Given the description of an element on the screen output the (x, y) to click on. 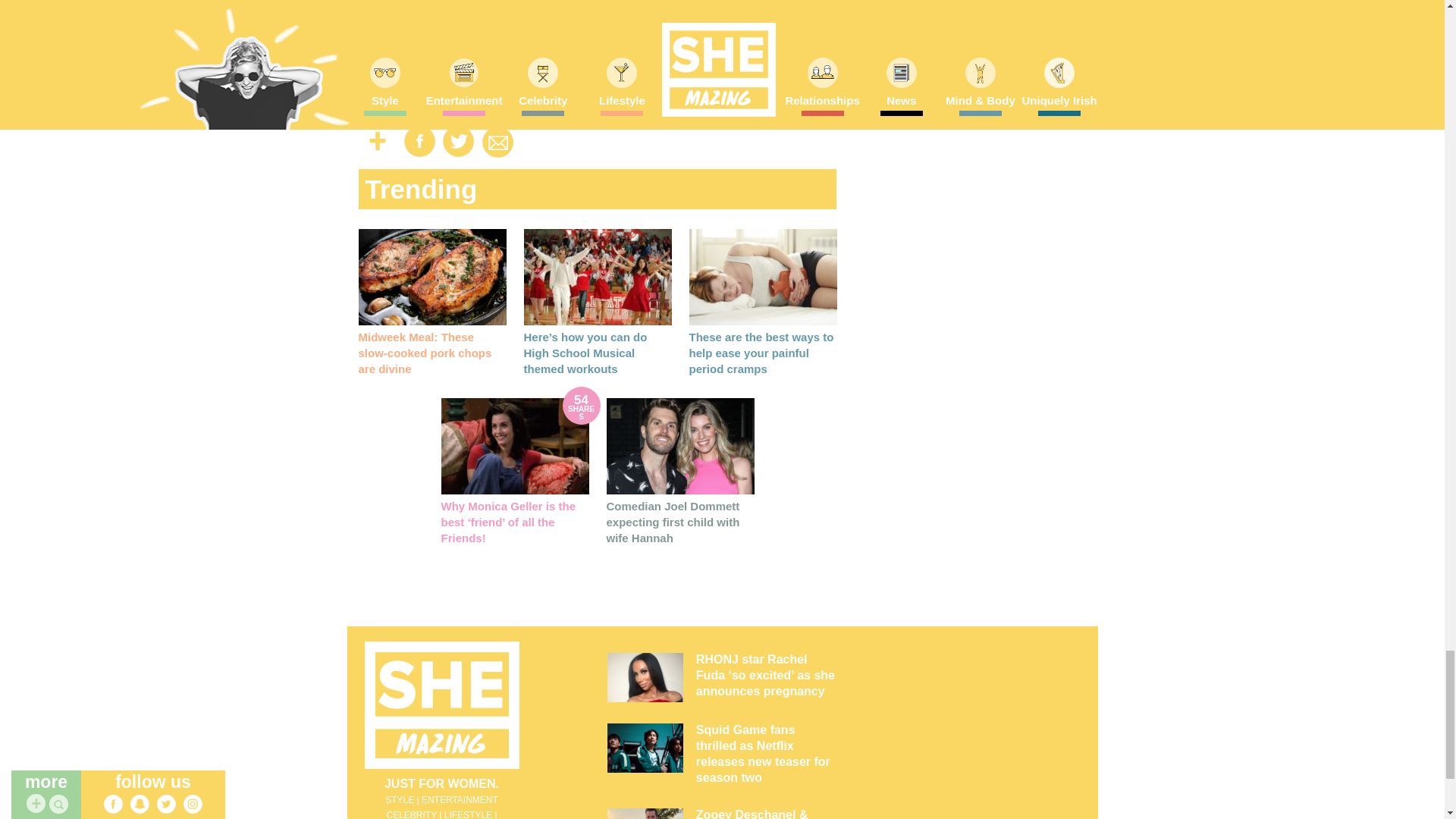
Comedian Joel Dommett expecting first child with wife Hannah (680, 446)
Midweek Meal: These slow-cooked pork chops are divine (431, 277)
Comedian Joel Dommett expecting first child with wife Hannah (673, 521)
Midweek Meal: These slow-cooked pork chops are divine (425, 352)
